Given the description of an element on the screen output the (x, y) to click on. 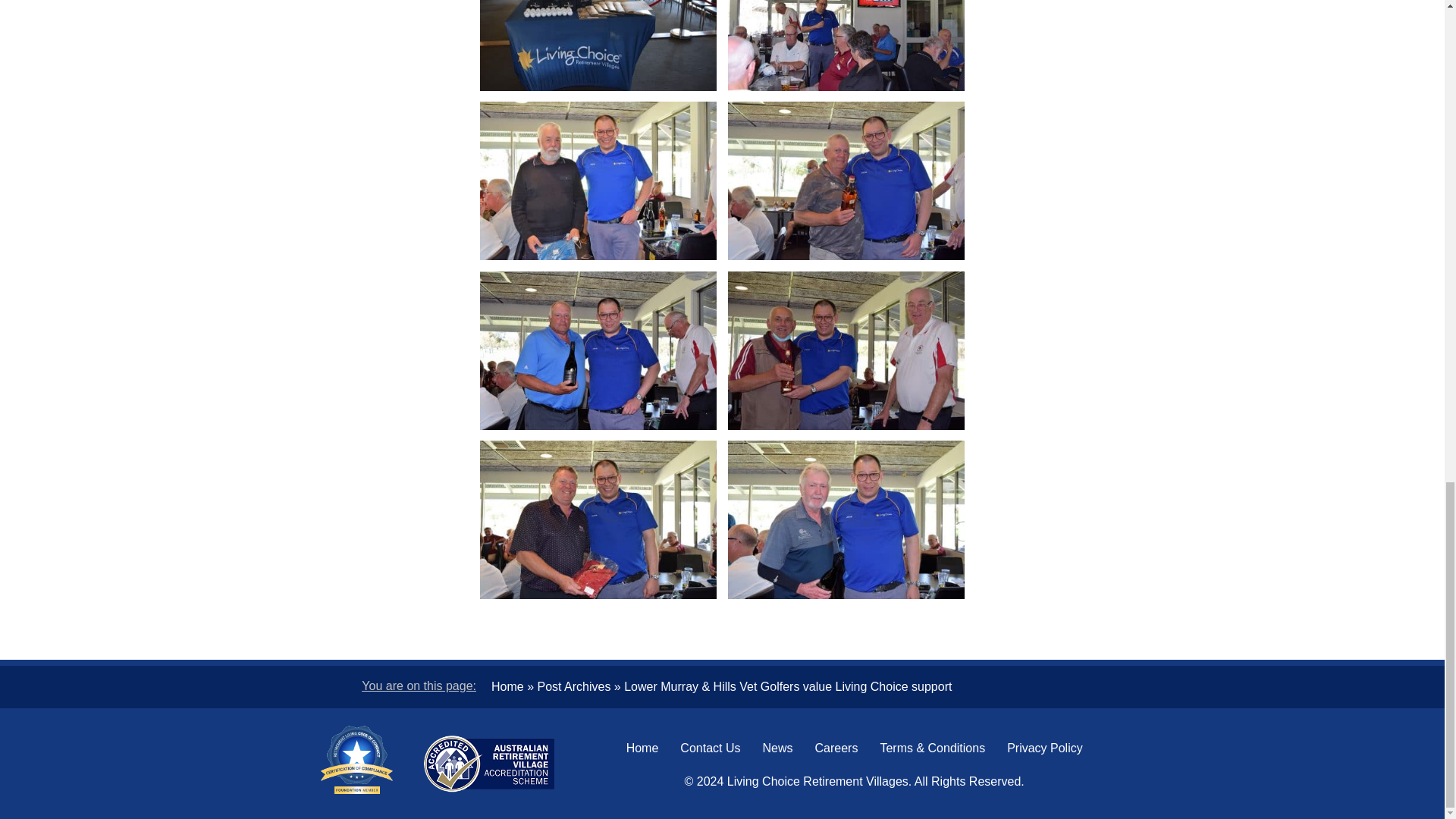
rlcc (356, 759)
ARVAS-Accredited-Logo-FINAL (488, 763)
